Given the description of an element on the screen output the (x, y) to click on. 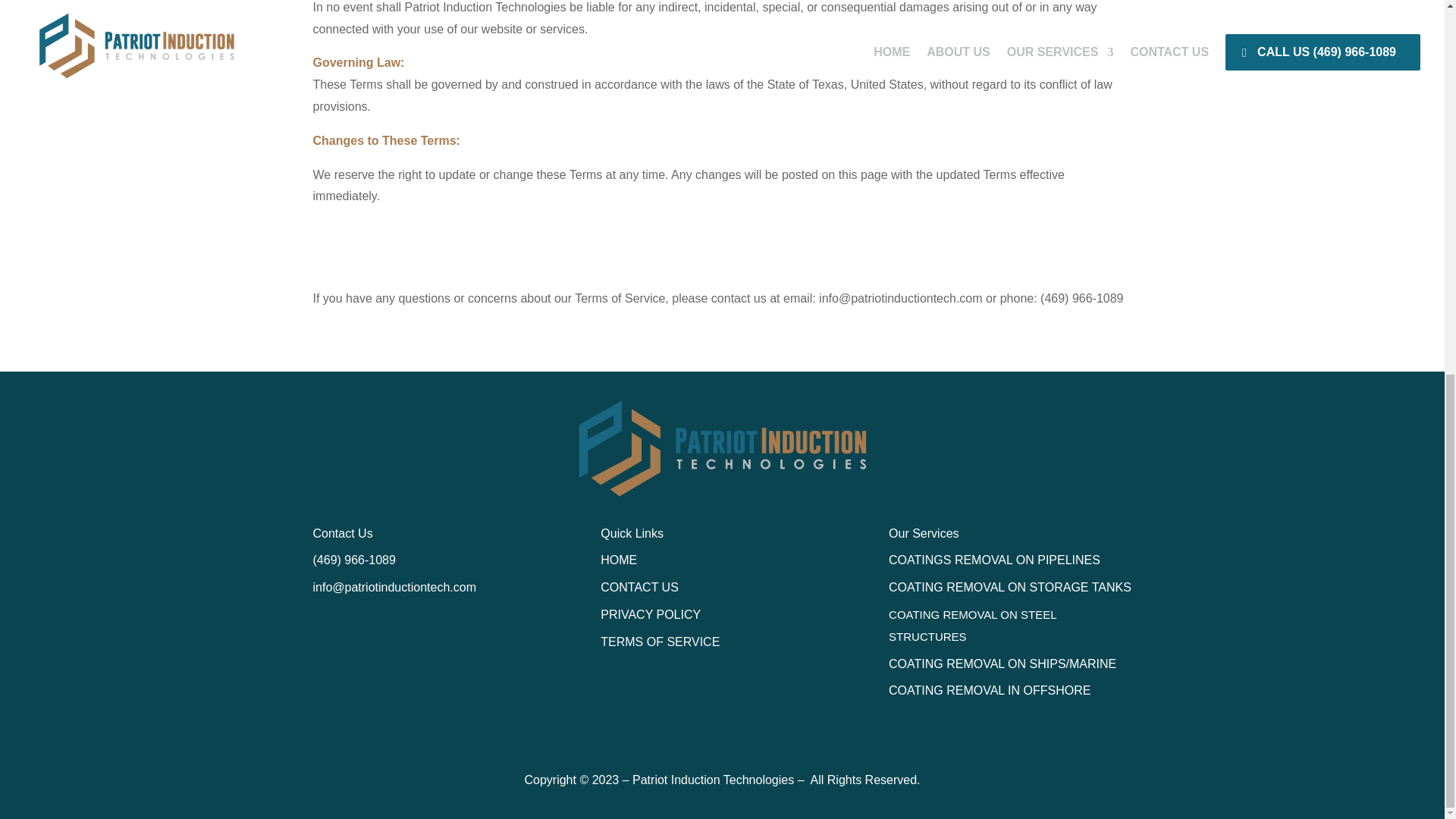
HOME (618, 559)
Patriot Induction Technologies logo-02 (721, 447)
COATINGS REMOVAL ON PIPELINES (994, 559)
COATING REMOVAL IN OFFSHORE (989, 689)
COATING REMOVAL ON STEEL STRUCTURES (972, 625)
COATING REMOVAL ON STORAGE TANKS (1009, 586)
CONTACT US (638, 586)
